Given the description of an element on the screen output the (x, y) to click on. 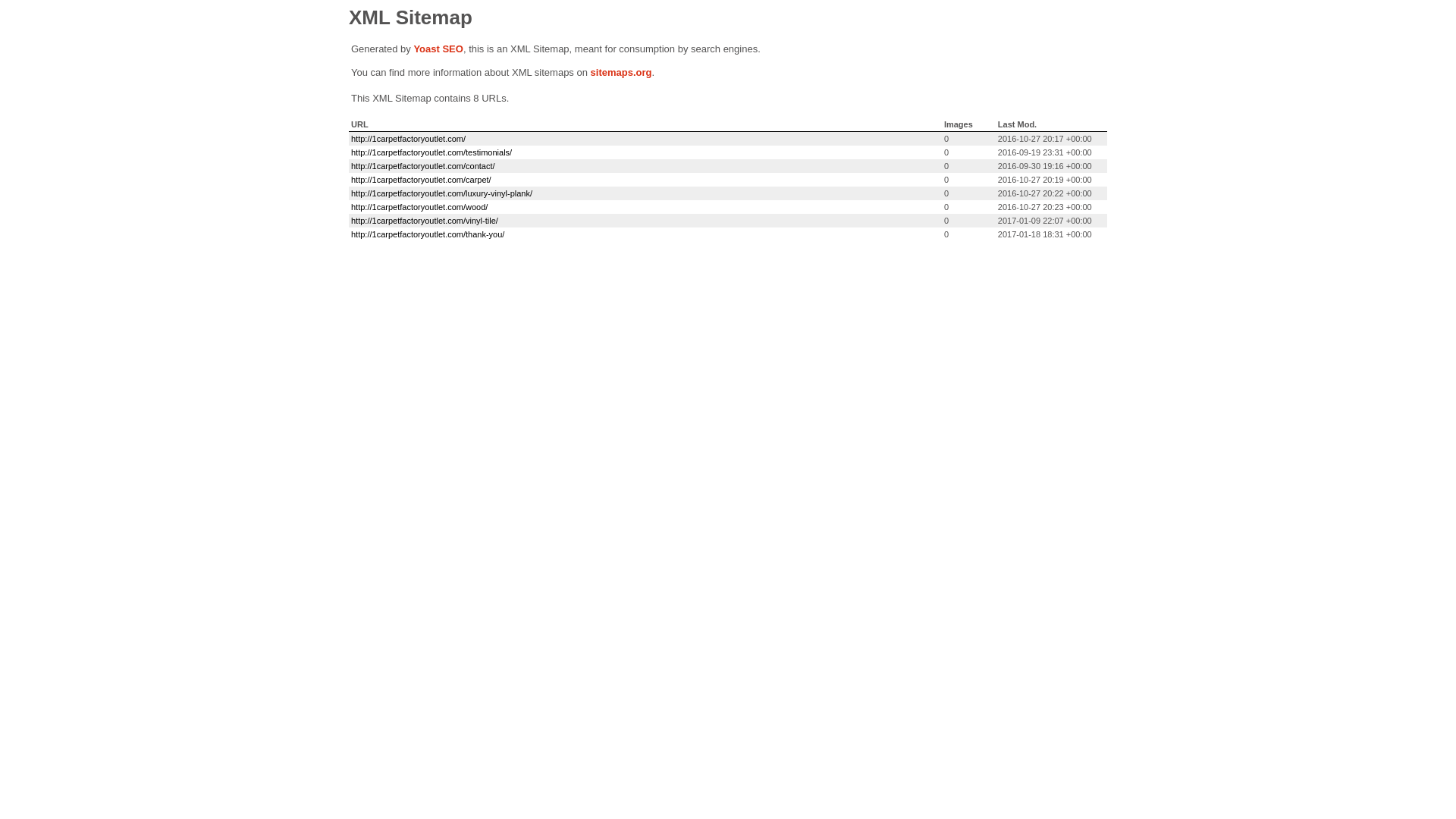
http://1carpetfactoryoutlet.com/carpet/ Element type: text (421, 179)
http://1carpetfactoryoutlet.com/testimonials/ Element type: text (431, 151)
http://1carpetfactoryoutlet.com/contact/ Element type: text (423, 165)
http://1carpetfactoryoutlet.com/ Element type: text (408, 138)
sitemaps.org Element type: text (621, 72)
http://1carpetfactoryoutlet.com/vinyl-tile/ Element type: text (424, 220)
http://1carpetfactoryoutlet.com/wood/ Element type: text (419, 206)
http://1carpetfactoryoutlet.com/thank-you/ Element type: text (427, 233)
http://1carpetfactoryoutlet.com/luxury-vinyl-plank/ Element type: text (441, 192)
Yoast SEO Element type: text (438, 48)
